Given the description of an element on the screen output the (x, y) to click on. 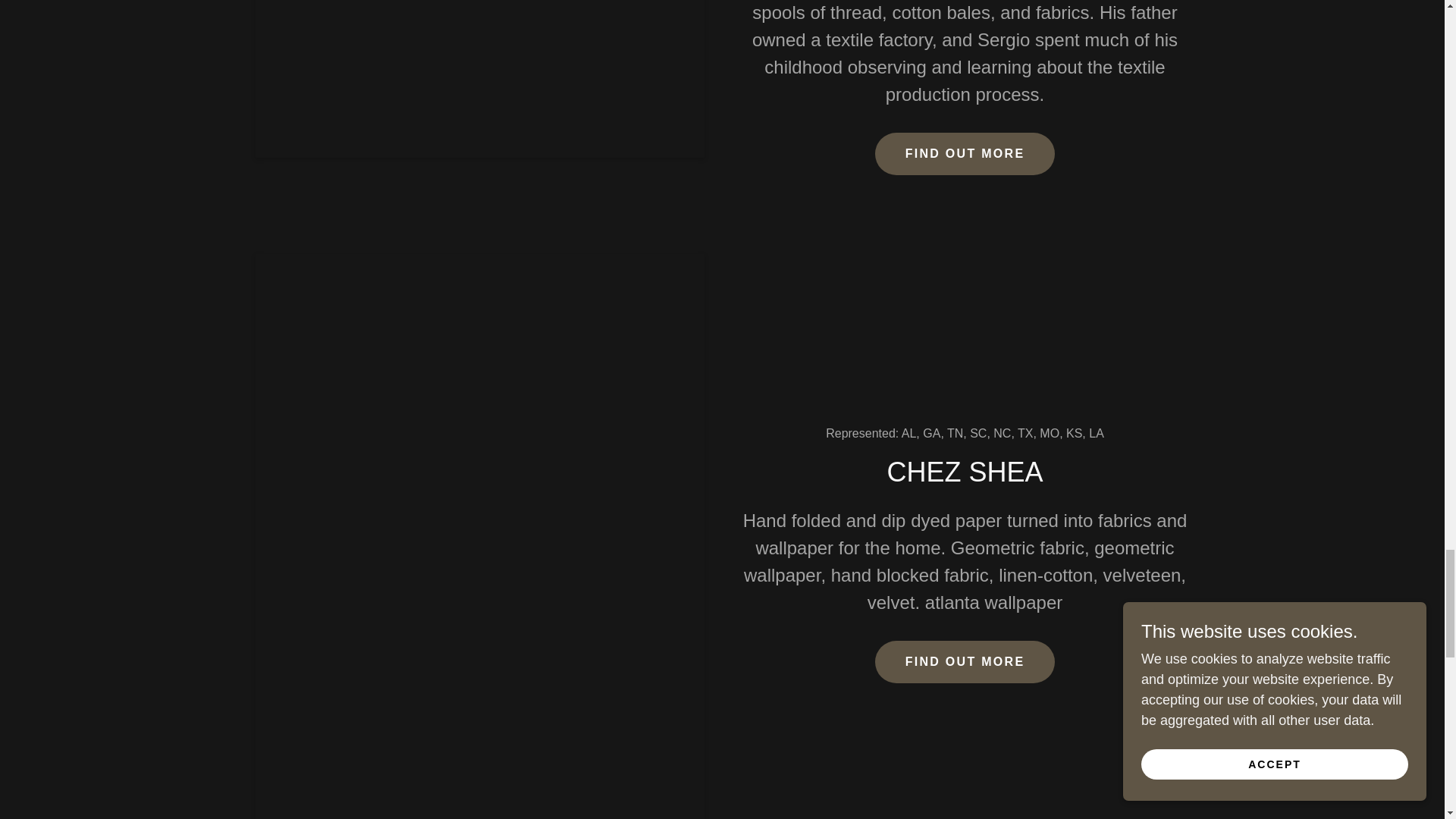
FIND OUT MORE (965, 661)
FIND OUT MORE (965, 153)
